Given the description of an element on the screen output the (x, y) to click on. 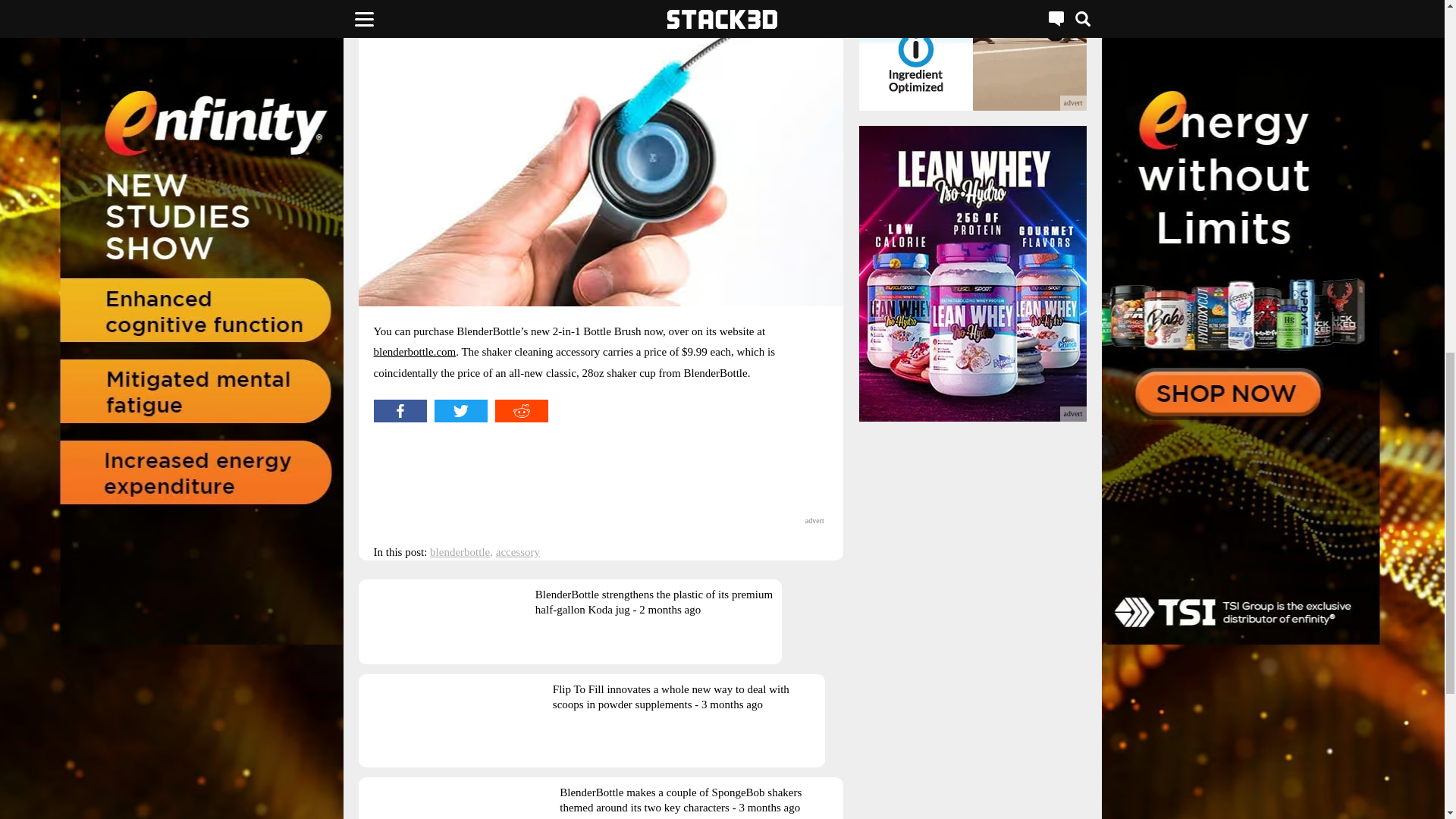
accessory (518, 551)
blenderbottle (459, 551)
blenderbottle.com (413, 351)
